Given the description of an element on the screen output the (x, y) to click on. 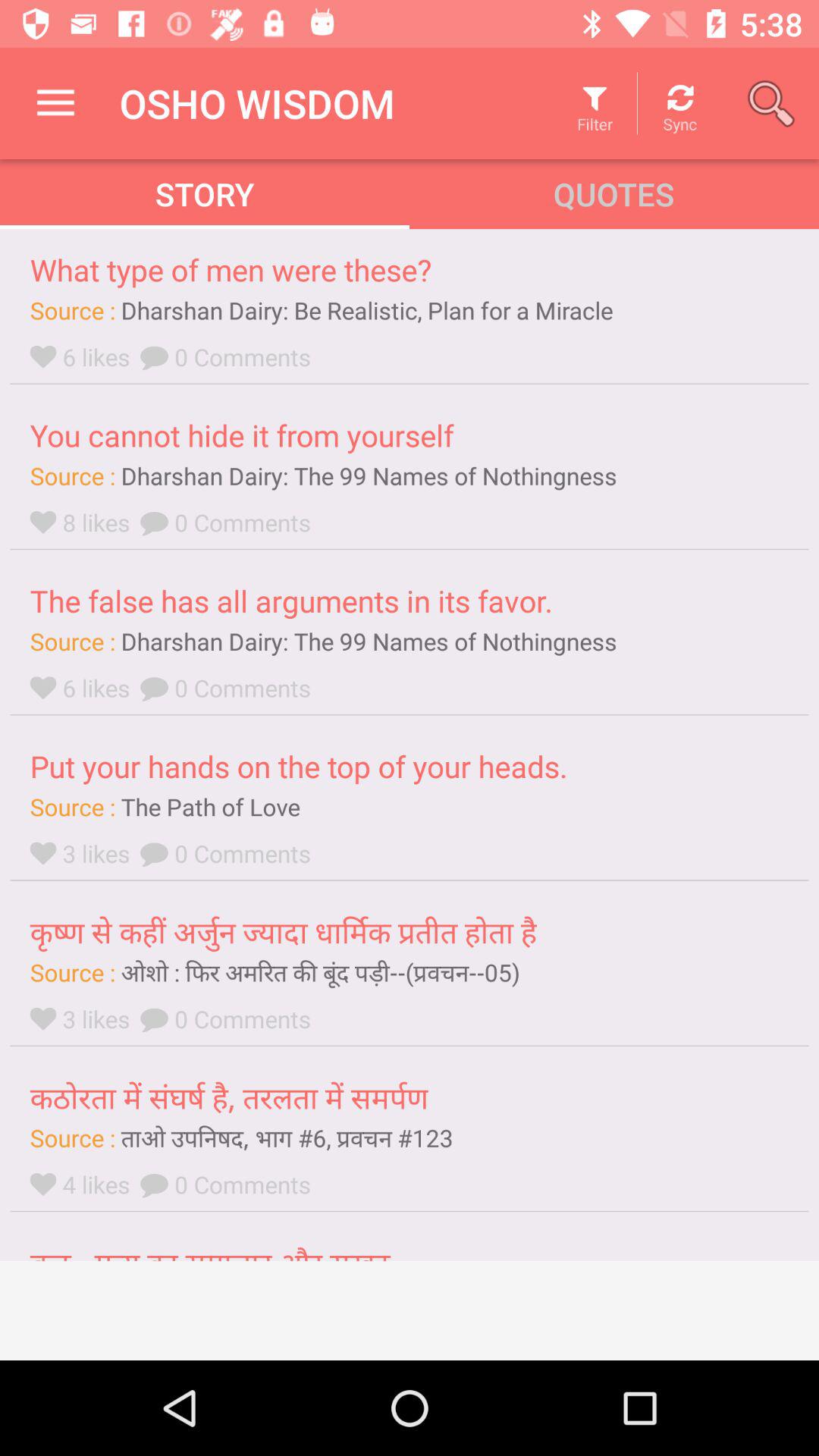
tap icon above what type of item (55, 103)
